Given the description of an element on the screen output the (x, y) to click on. 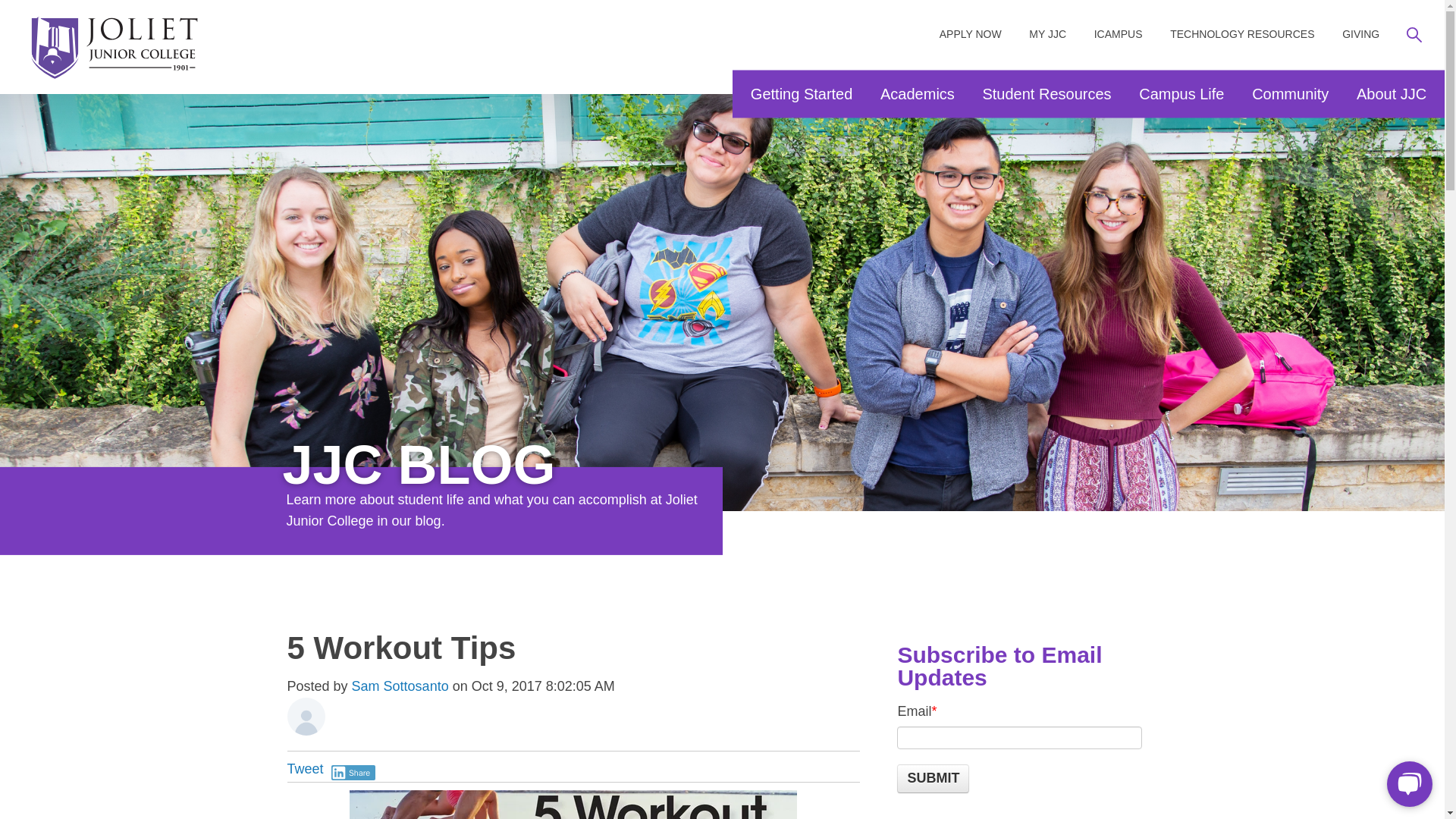
TECHNOLOGY RESOURCES (1242, 34)
Submit (932, 778)
ICAMPUS (1118, 34)
Joliet Junior College Home Page (114, 51)
5 workout tips joliet junior college jjc haunted 5k (572, 804)
Community (1290, 93)
Academics (916, 93)
GIVING (1360, 34)
Getting Started (801, 93)
APPLY NOW (970, 34)
Student Resources (1045, 93)
Campus Life (1181, 93)
MY JJC (1047, 34)
